Given the description of an element on the screen output the (x, y) to click on. 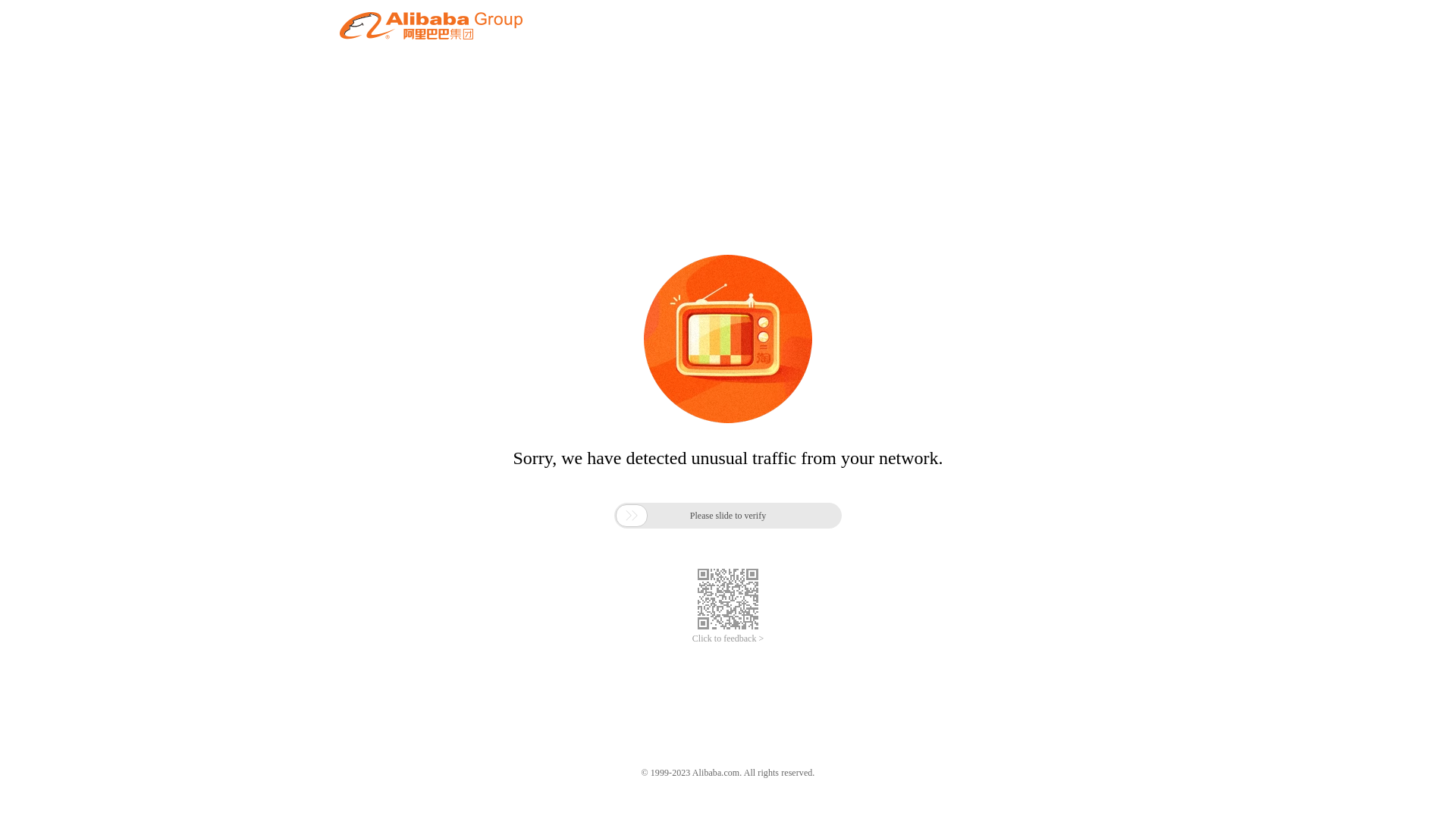
Click to feedback > Element type: text (727, 638)
